Given the description of an element on the screen output the (x, y) to click on. 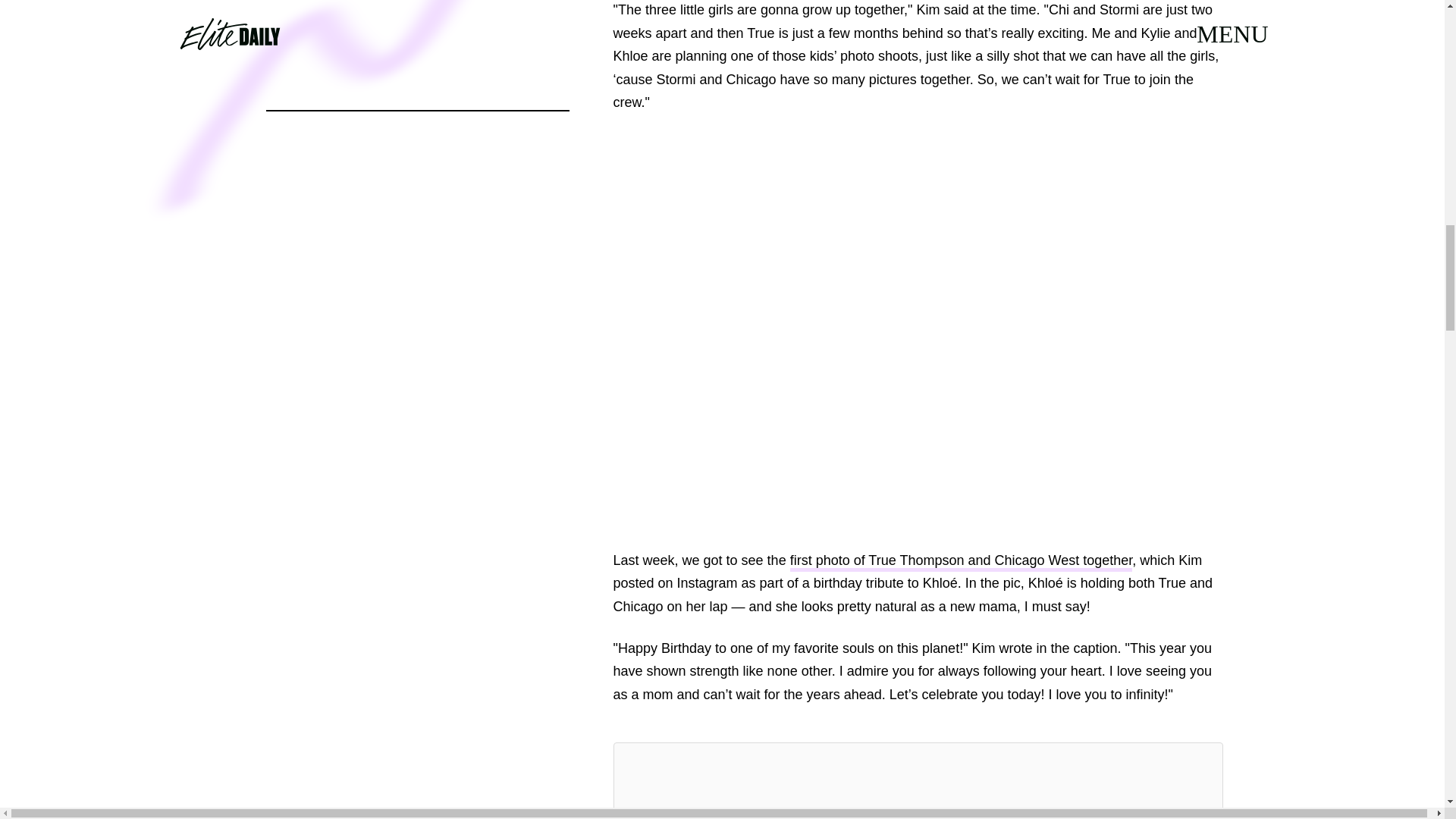
first photo of True Thompson and Chicago West together (961, 561)
